Given the description of an element on the screen output the (x, y) to click on. 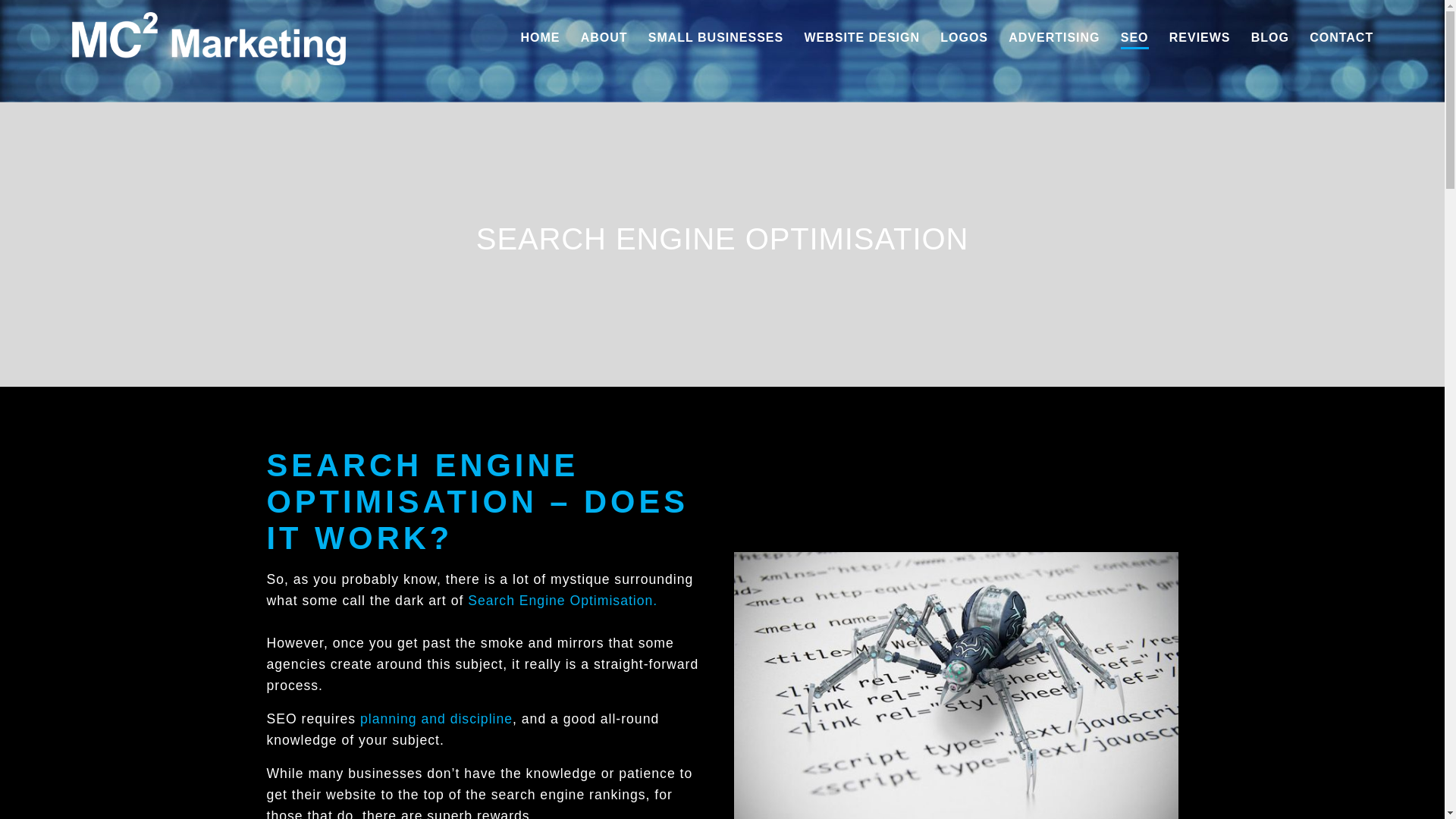
CONTACT (1340, 38)
SMALL BUSINESSES (715, 38)
HOME (540, 38)
WEBSITE DESIGN (861, 38)
ADVERTISING (1054, 38)
SEO (1134, 38)
BLOG (1269, 38)
ABOUT (603, 38)
LOGOS (964, 38)
REVIEWS (1199, 38)
